Given the description of an element on the screen output the (x, y) to click on. 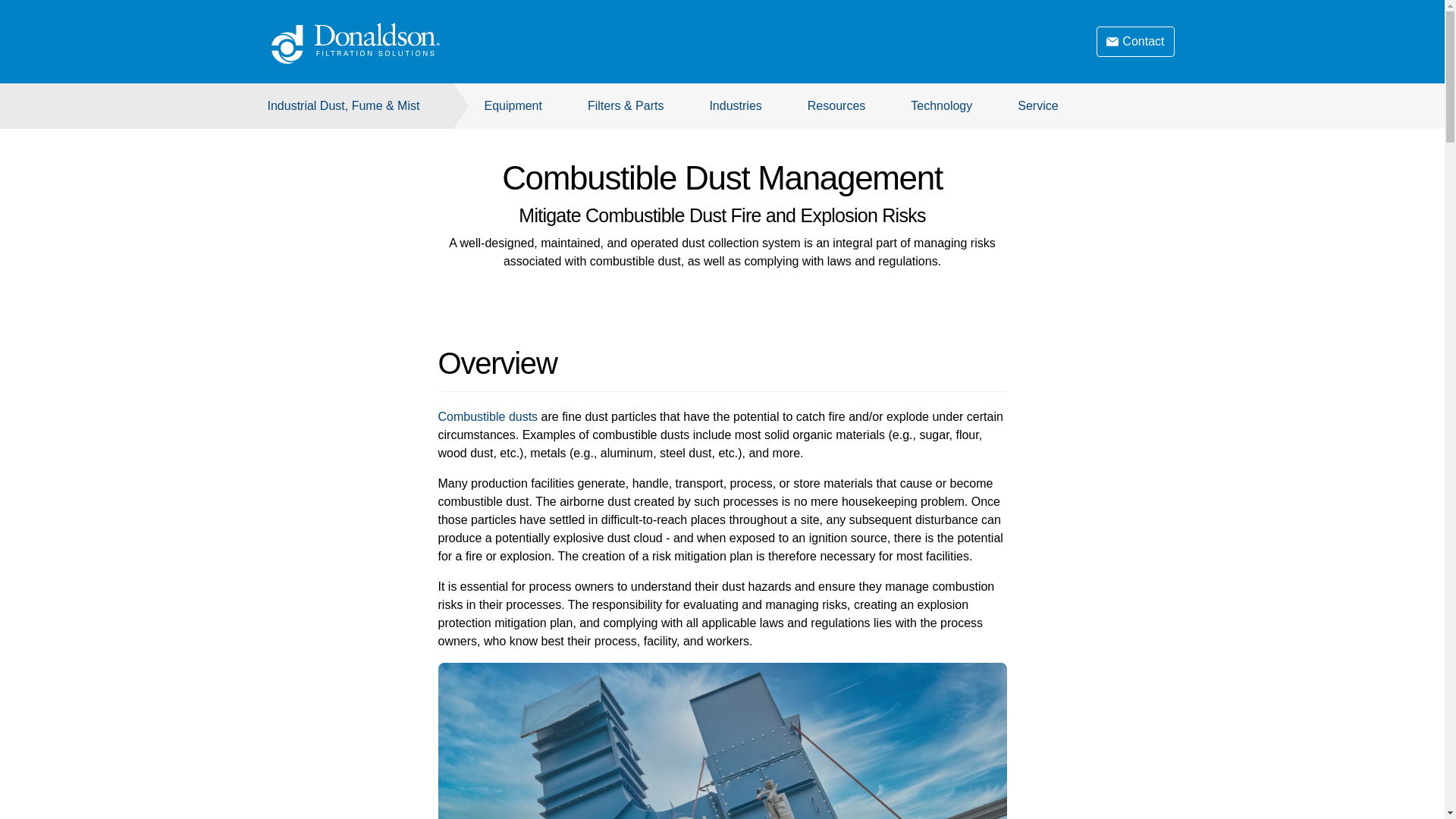
Donaldson (380, 43)
